Given the description of an element on the screen output the (x, y) to click on. 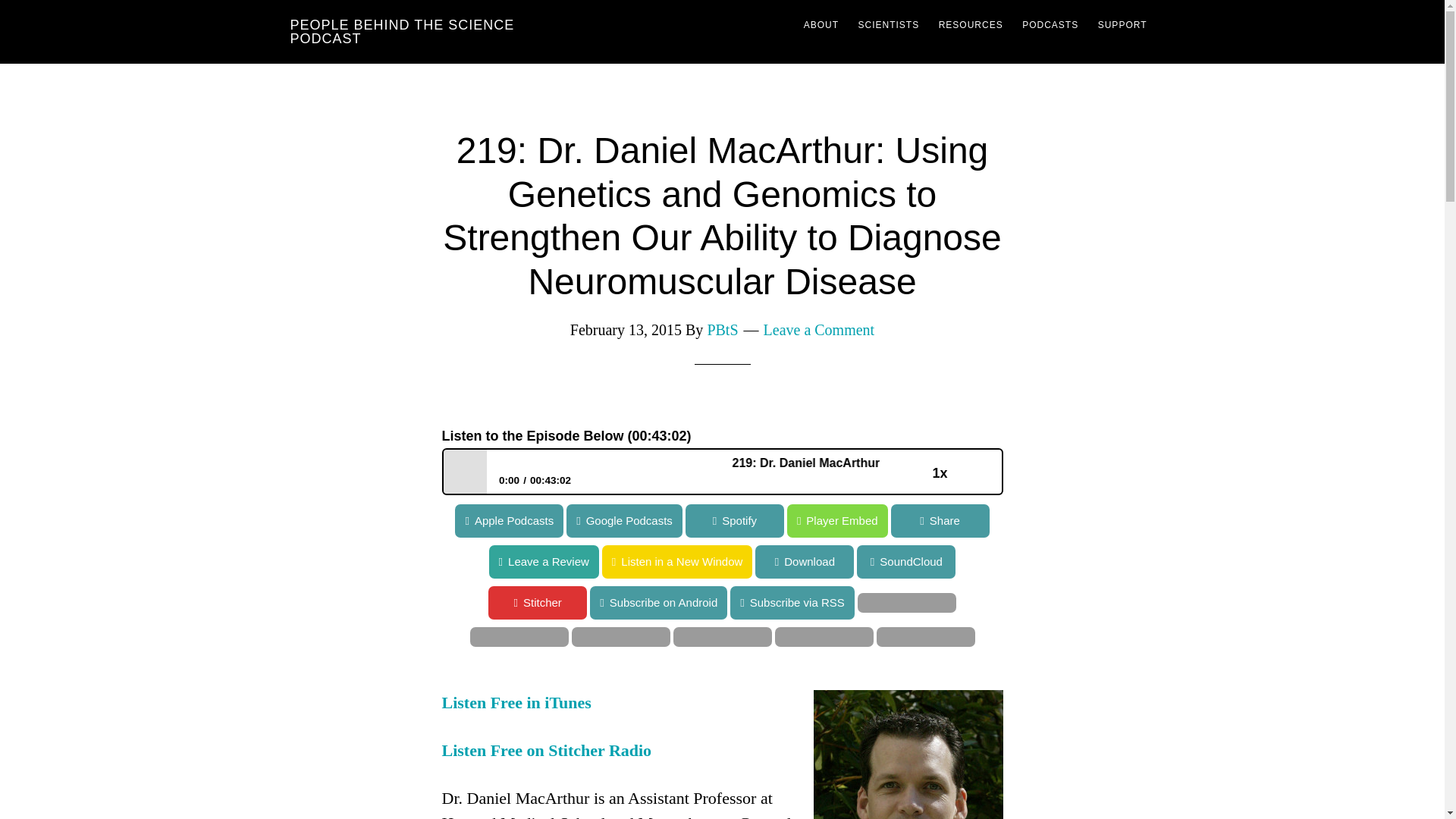
Spotify (733, 520)
SoundCloud (49, 561)
Download (785, 561)
RESOURCES (970, 24)
Listen in a New Window (75, 561)
ABOUT (820, 24)
SUPPORT (1122, 24)
Subscribe on Android (708, 602)
PODCASTS (1050, 24)
PEOPLE BEHIND THE SCIENCE PODCAST (401, 31)
Leave a Comment (818, 329)
Listen Free in iTunes (516, 701)
SCIENTISTS (888, 24)
Share (940, 520)
PBtS (722, 329)
